Given the description of an element on the screen output the (x, y) to click on. 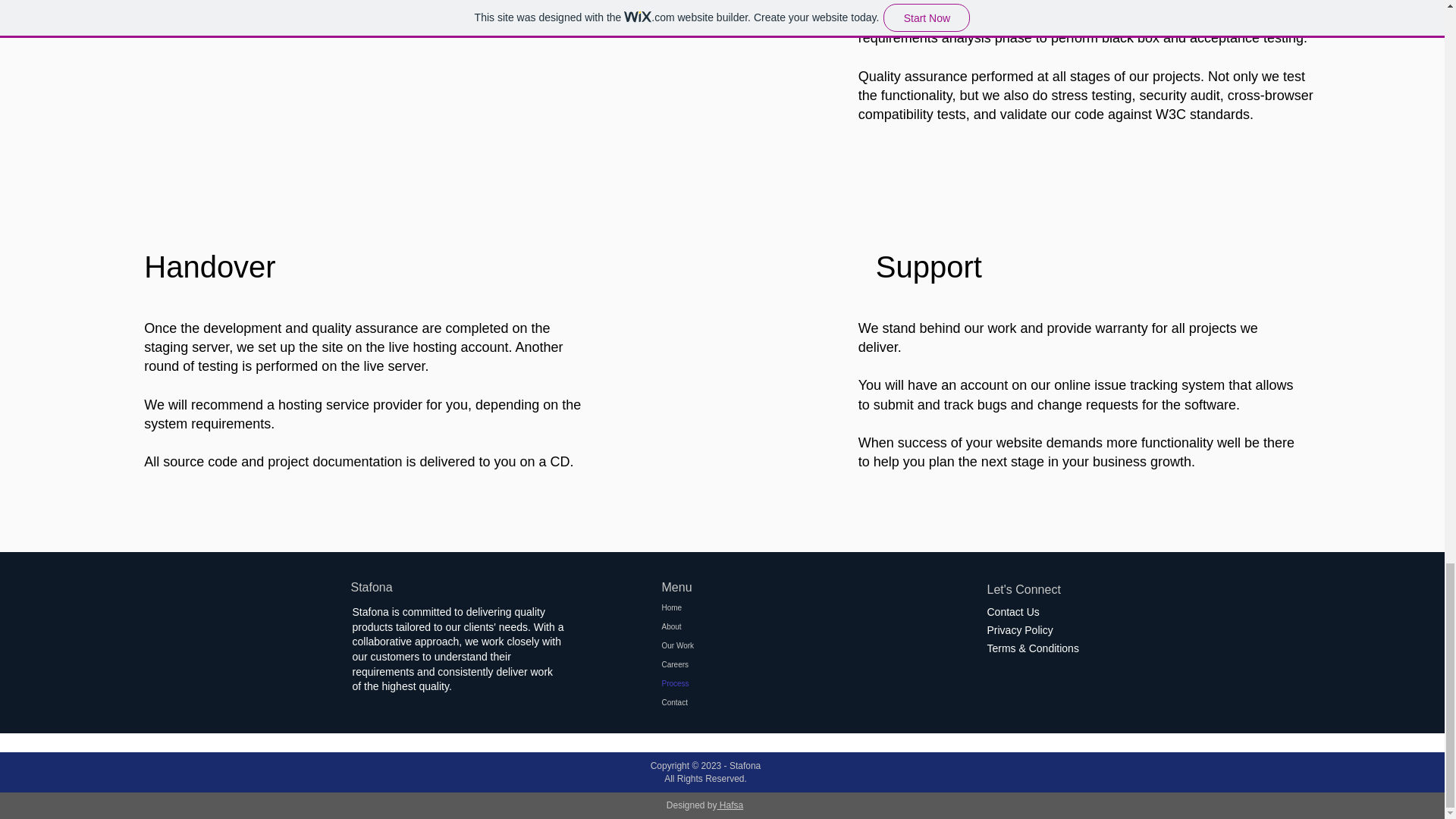
Home (714, 607)
Process (714, 683)
Hafsa (730, 805)
About (714, 626)
Contact (714, 701)
Our Work (714, 645)
Careers (714, 664)
